Given the description of an element on the screen output the (x, y) to click on. 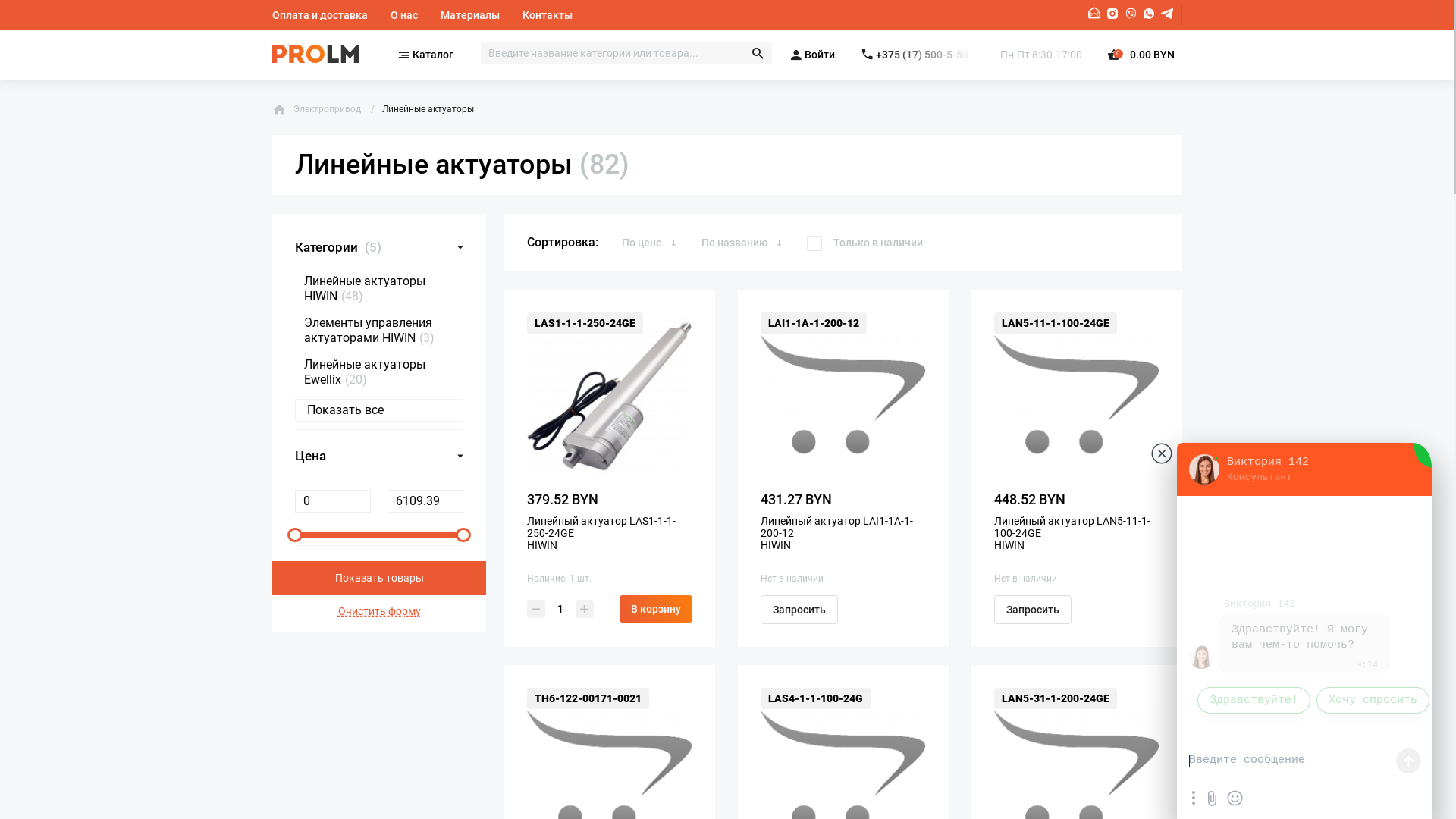
Instagram Element type: hover (1112, 13)
Telegram Element type: hover (1166, 13)
+375 (17) 500-5-50 Element type: text (917, 54)
Viber Element type: hover (1130, 13)
e-mail: shop@prolm.by Element type: hover (1094, 12)
whatsapp Element type: hover (1148, 13)
+375 (17) 500-5-50 Element type: text (923, 54)
